Given the description of an element on the screen output the (x, y) to click on. 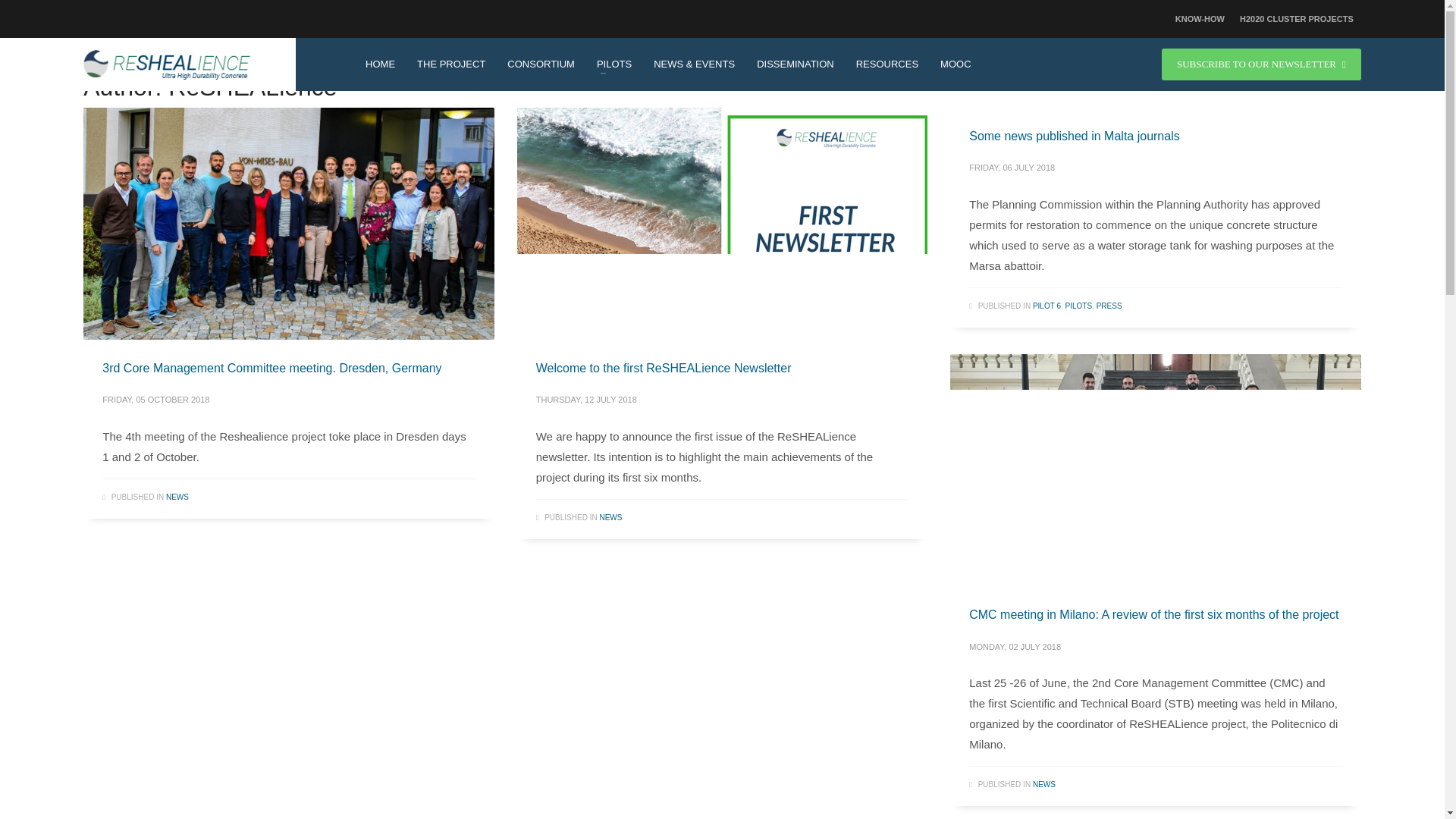
PRESS (1109, 306)
ReSHEAlience meeting in Dresden (287, 223)
PILOT 6 (1046, 306)
3rd Core Management Committee meeting. Dresden, Germany (271, 367)
HOME (380, 64)
Some news published in Malta journals (1074, 135)
KNOW-HOW (1199, 18)
NEWS (1043, 784)
DISSEMINATION (795, 64)
